Given the description of an element on the screen output the (x, y) to click on. 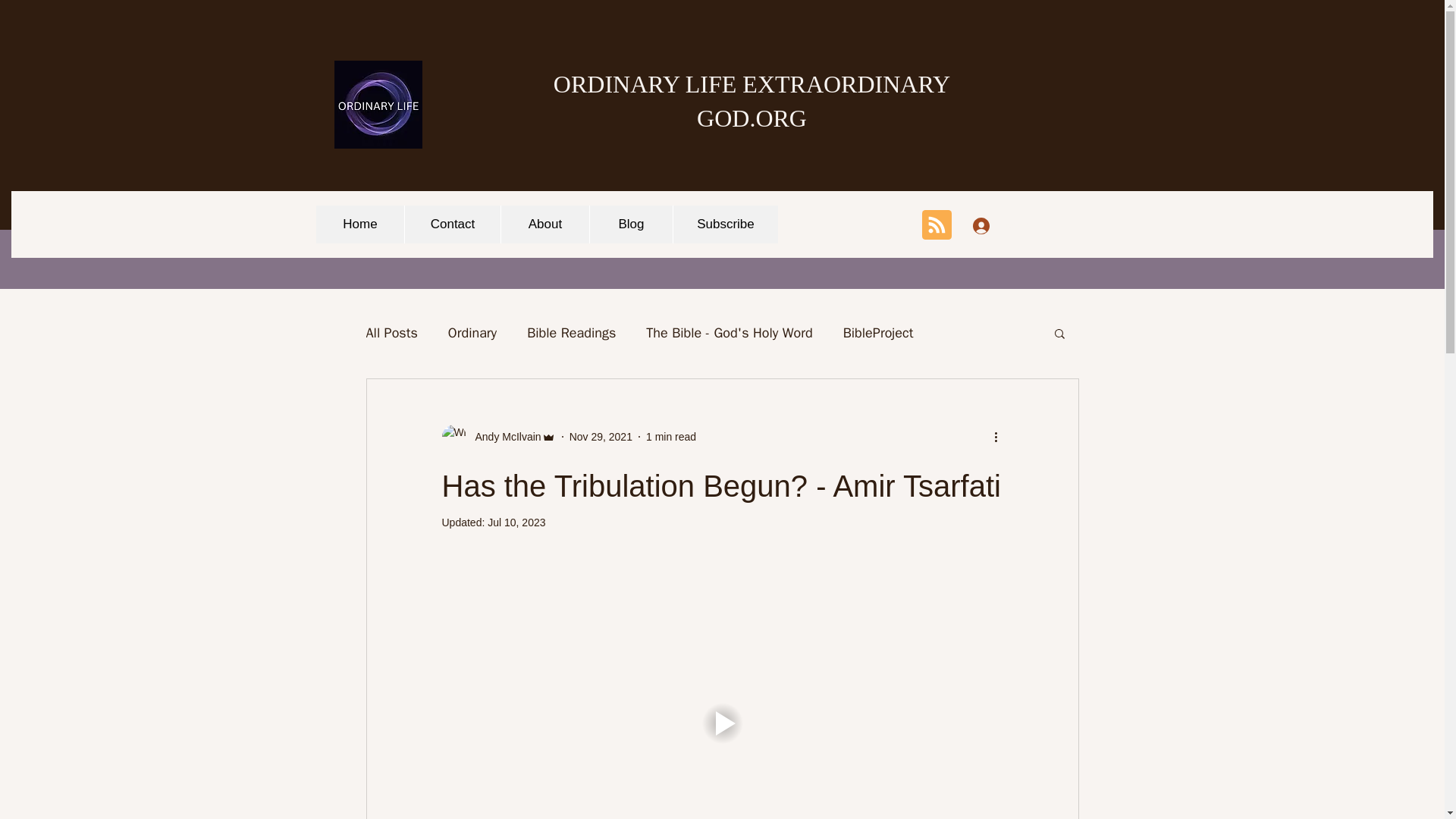
About (544, 224)
Contact (452, 224)
Log In (1001, 225)
BibleProject (878, 332)
Home (359, 224)
All Posts (390, 332)
Andy McIlvain (502, 437)
Blog (630, 224)
The Bible - God's Holy Word (729, 332)
Ordinary (472, 332)
